Given the description of an element on the screen output the (x, y) to click on. 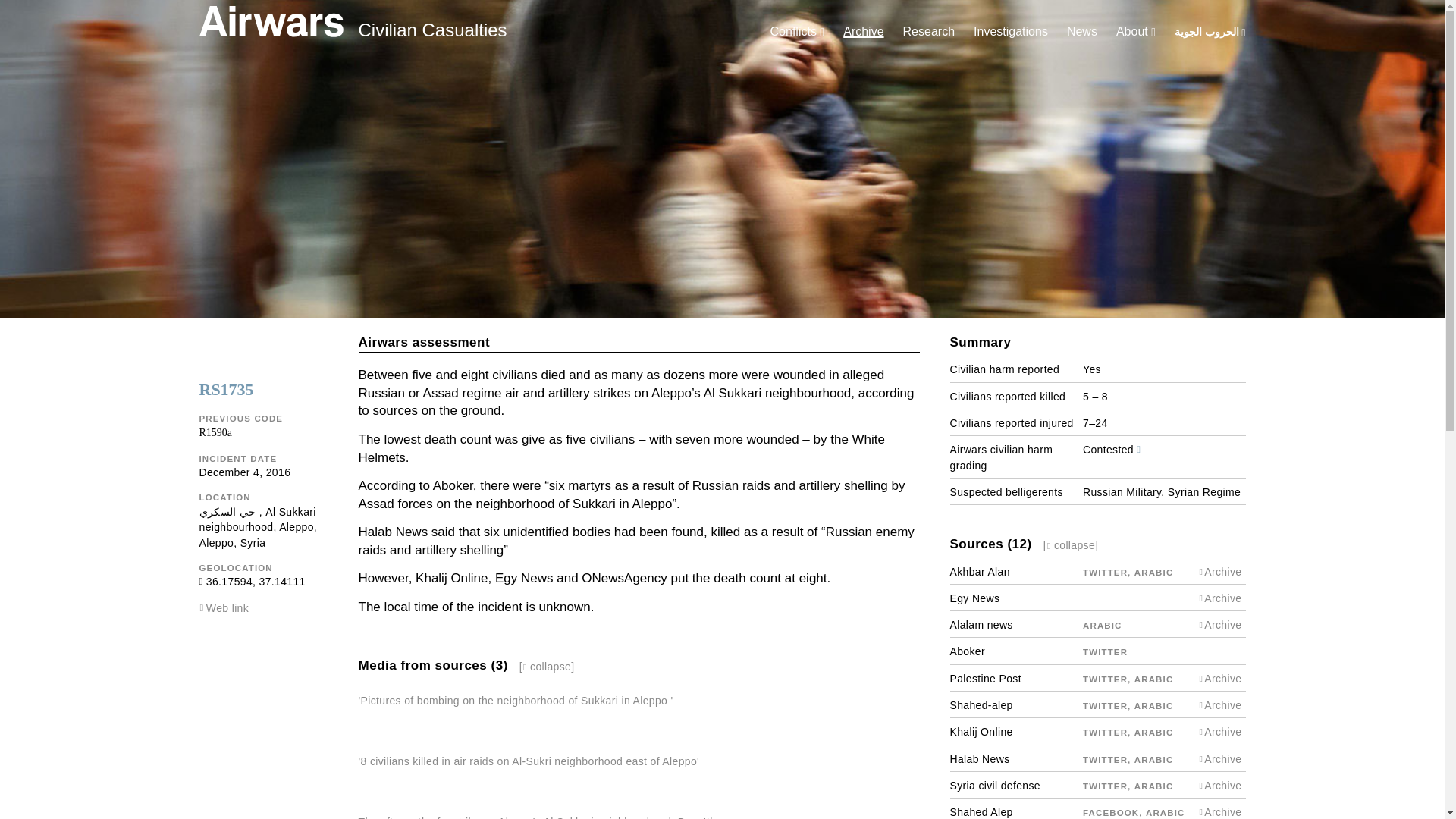
Archive (863, 31)
Research (928, 31)
Web link (227, 607)
News (1082, 31)
Investigations (1011, 31)
